Given the description of an element on the screen output the (x, y) to click on. 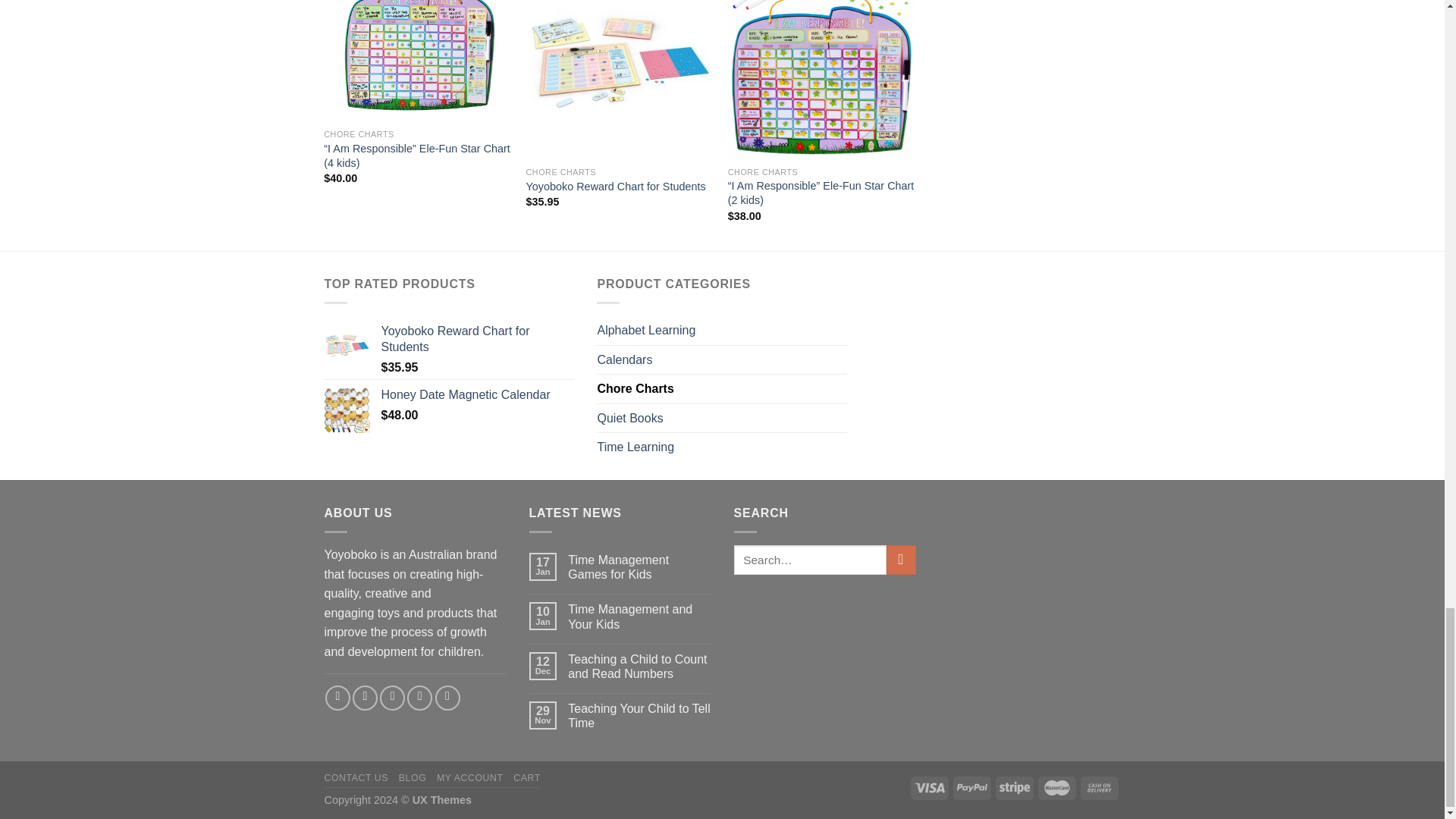
AMZ2 (821, 79)
Time Management Games for Kids (638, 566)
School chart image 2 - thumbnail (619, 79)
Good Behaviour and Responsibility Chart for Up To 4 Kids (417, 60)
